Given the description of an element on the screen output the (x, y) to click on. 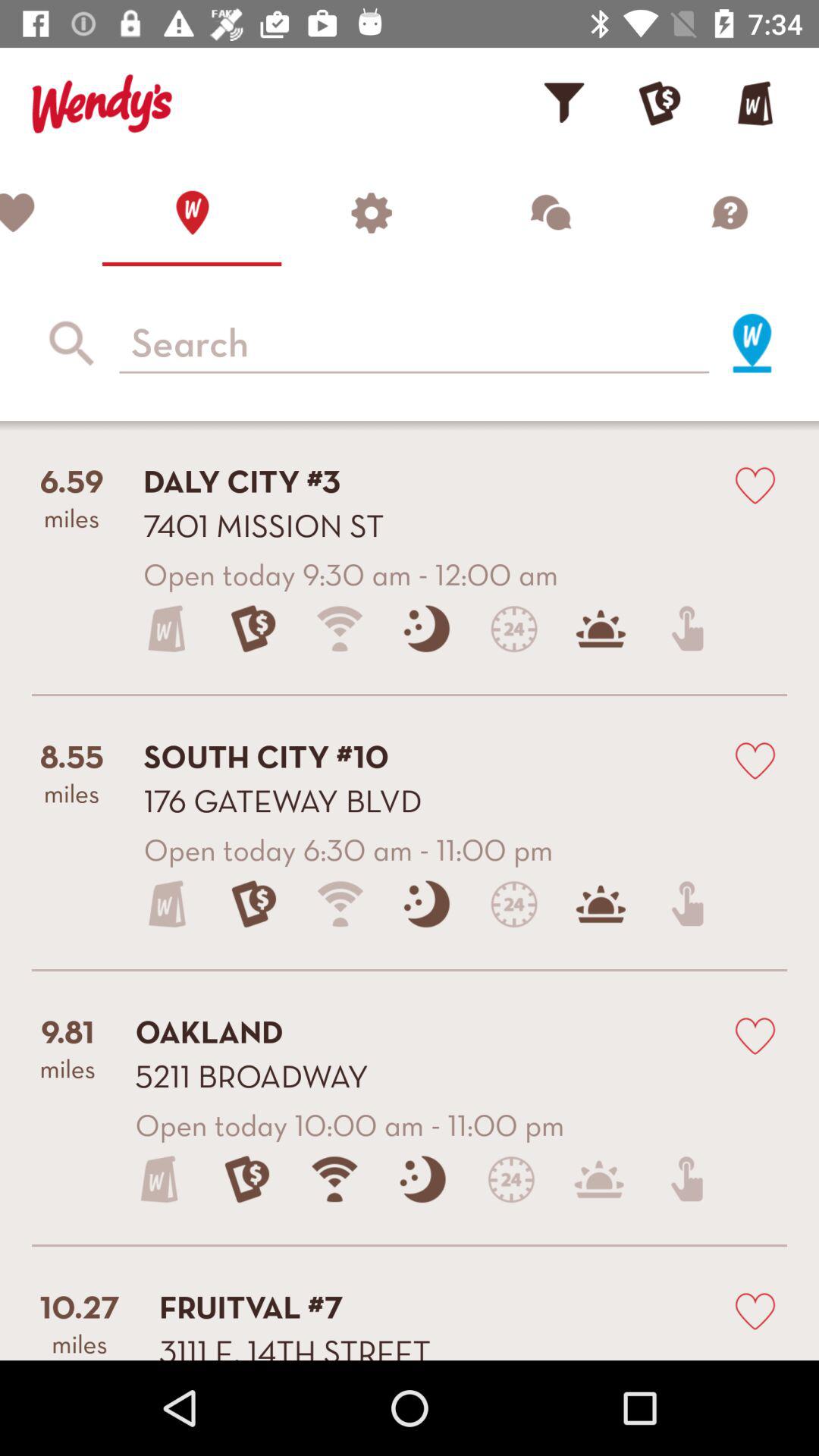
search locations (414, 343)
